Given the description of an element on the screen output the (x, y) to click on. 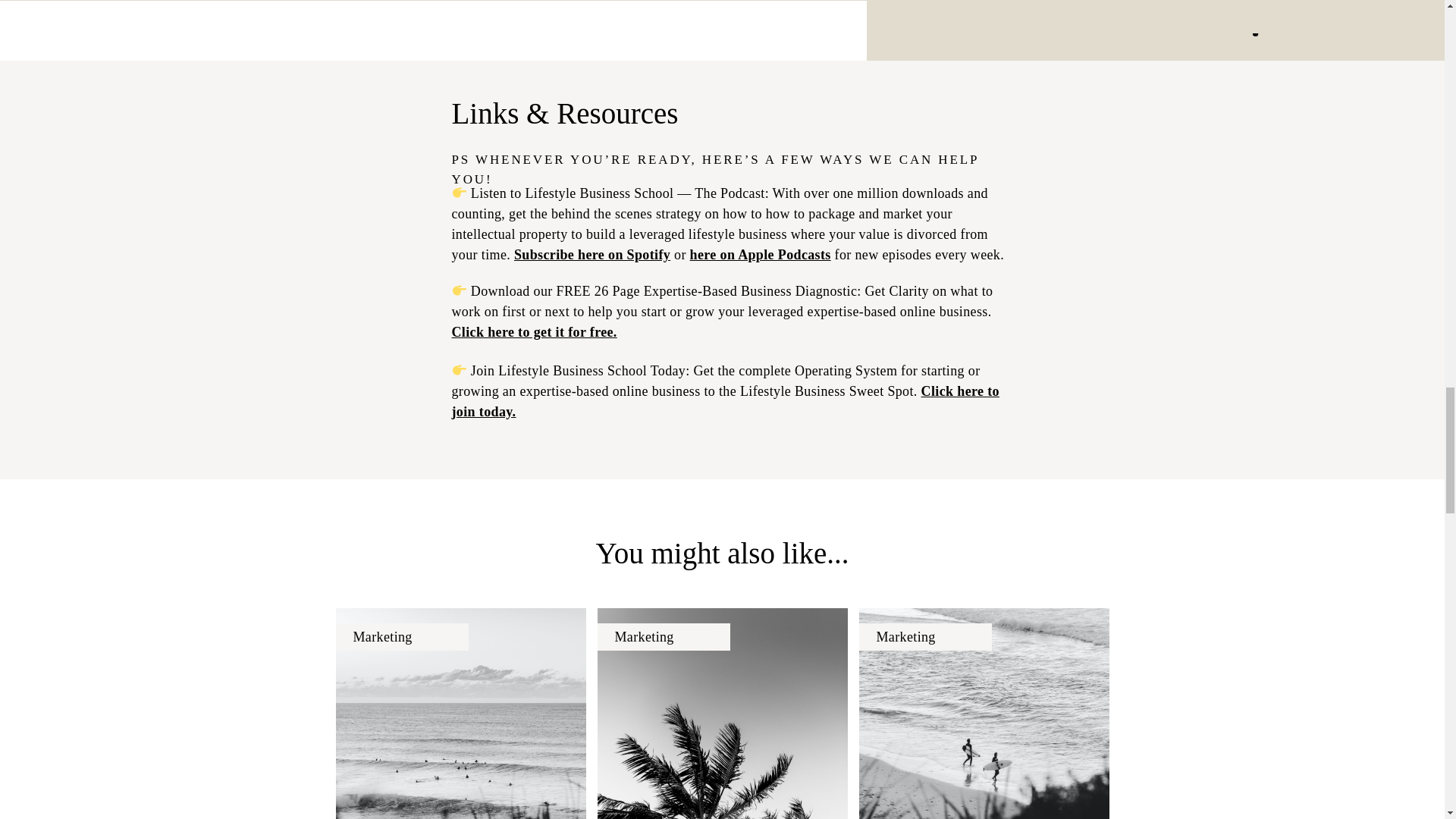
Subscribe here on Spotify (591, 254)
Marketing (382, 636)
here on Apple Podcasts (760, 254)
Marketing (643, 636)
Click here to get it for free. (534, 331)
Click here to join today. (724, 401)
